Given the description of an element on the screen output the (x, y) to click on. 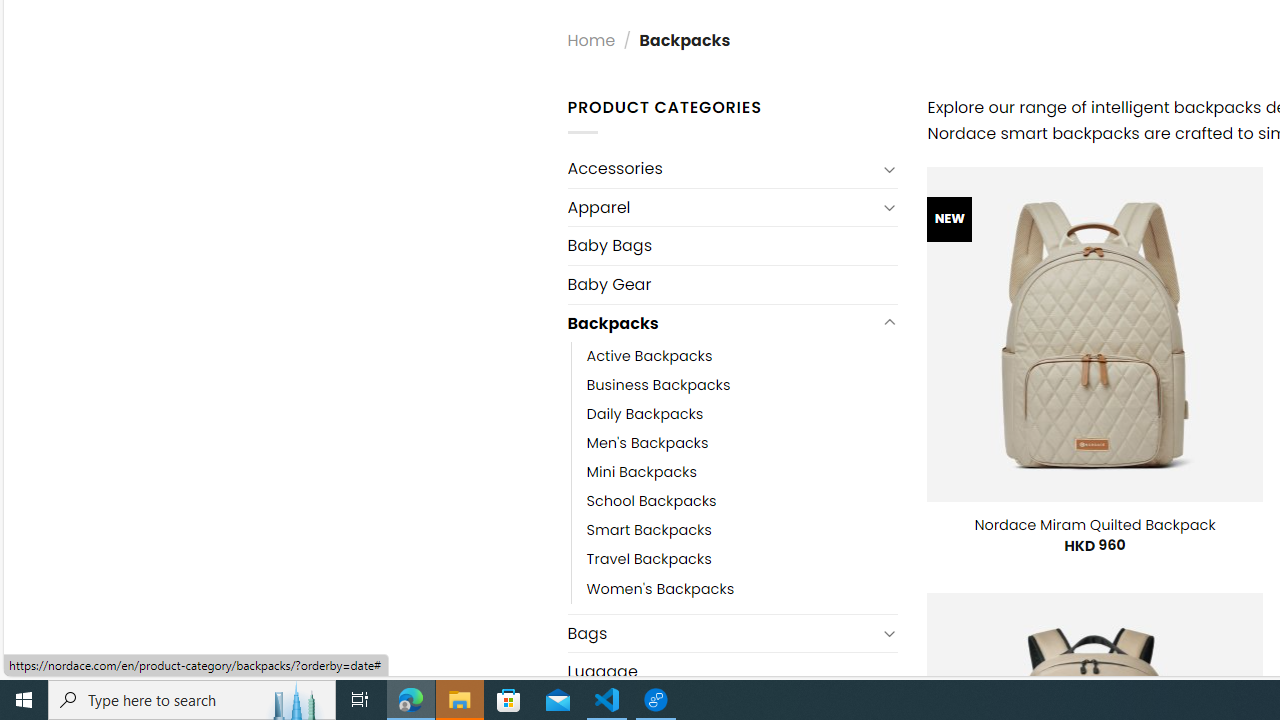
Mini Backpacks (641, 472)
Daily Backpacks (645, 414)
Men's Backpacks (742, 444)
Baby Bags (732, 245)
